Given the description of an element on the screen output the (x, y) to click on. 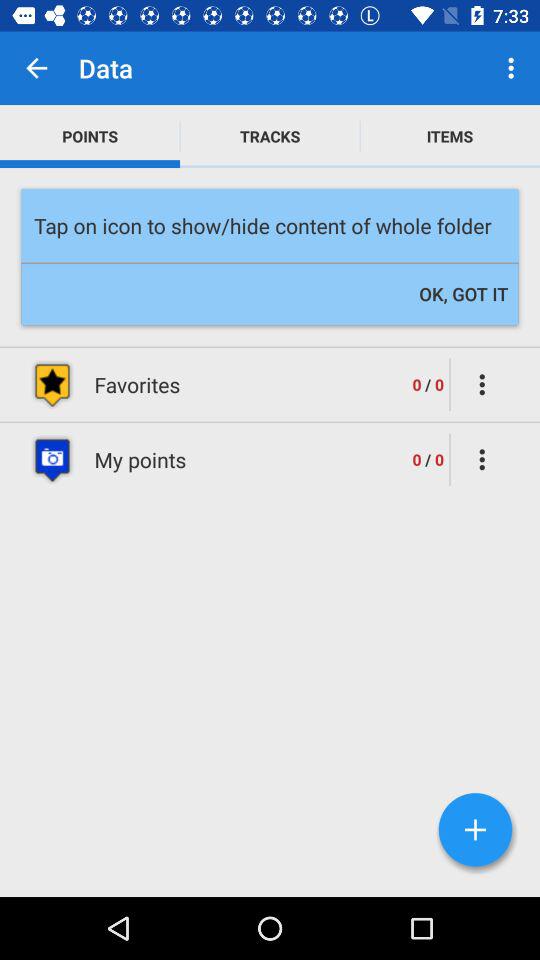
scroll to the tap on icon (270, 225)
